Given the description of an element on the screen output the (x, y) to click on. 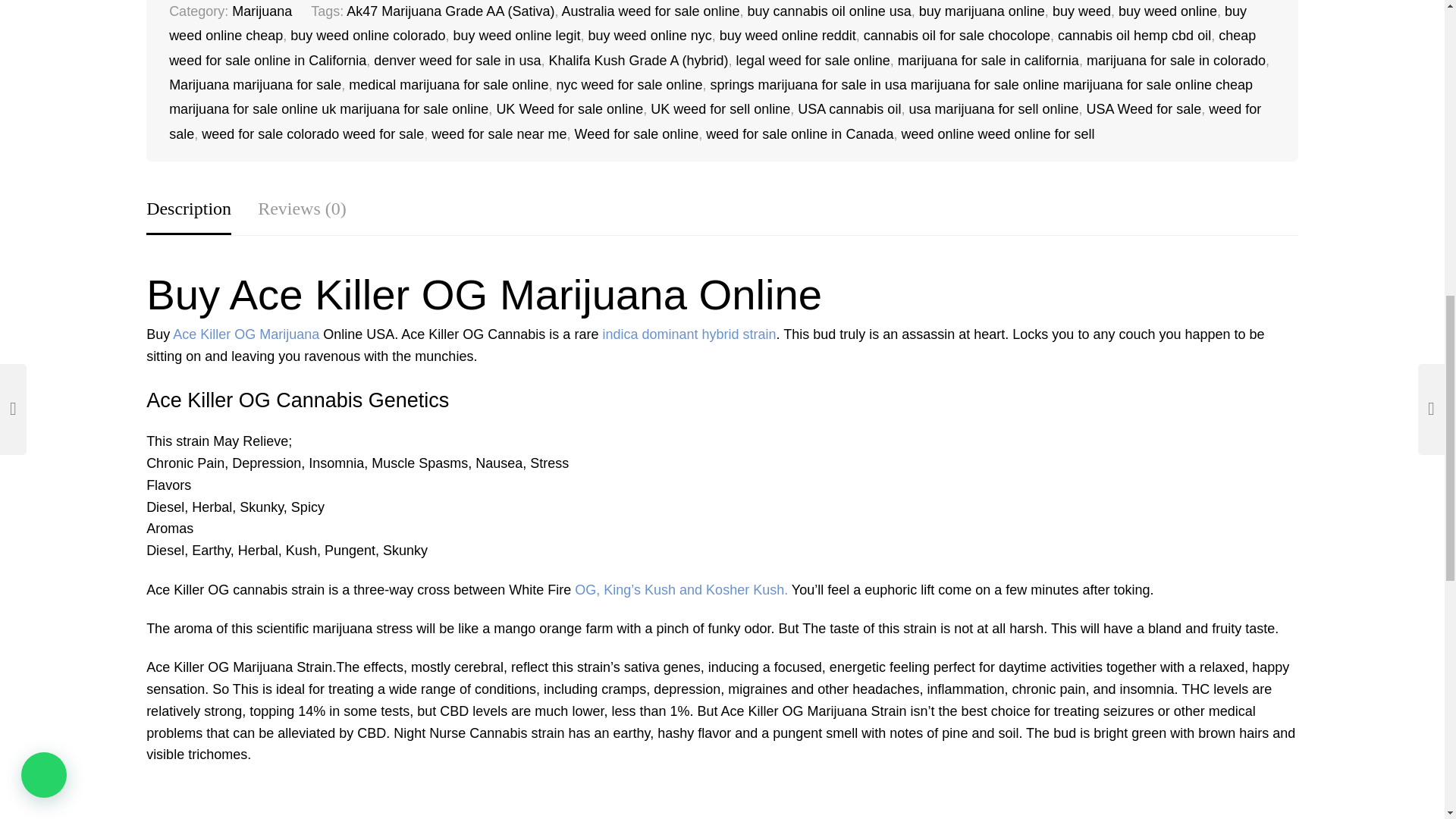
buy weed online reddit (787, 35)
buy marijuana online (981, 11)
buy weed (1081, 11)
buy weed online cheap (707, 23)
buy cannabis oil online usa (829, 11)
Marijuana (261, 11)
buy weed online colorado (367, 35)
buy weed online legit (515, 35)
cannabis oil for sale chocolope (956, 35)
Australia weed for sale online (649, 11)
